Given the description of an element on the screen output the (x, y) to click on. 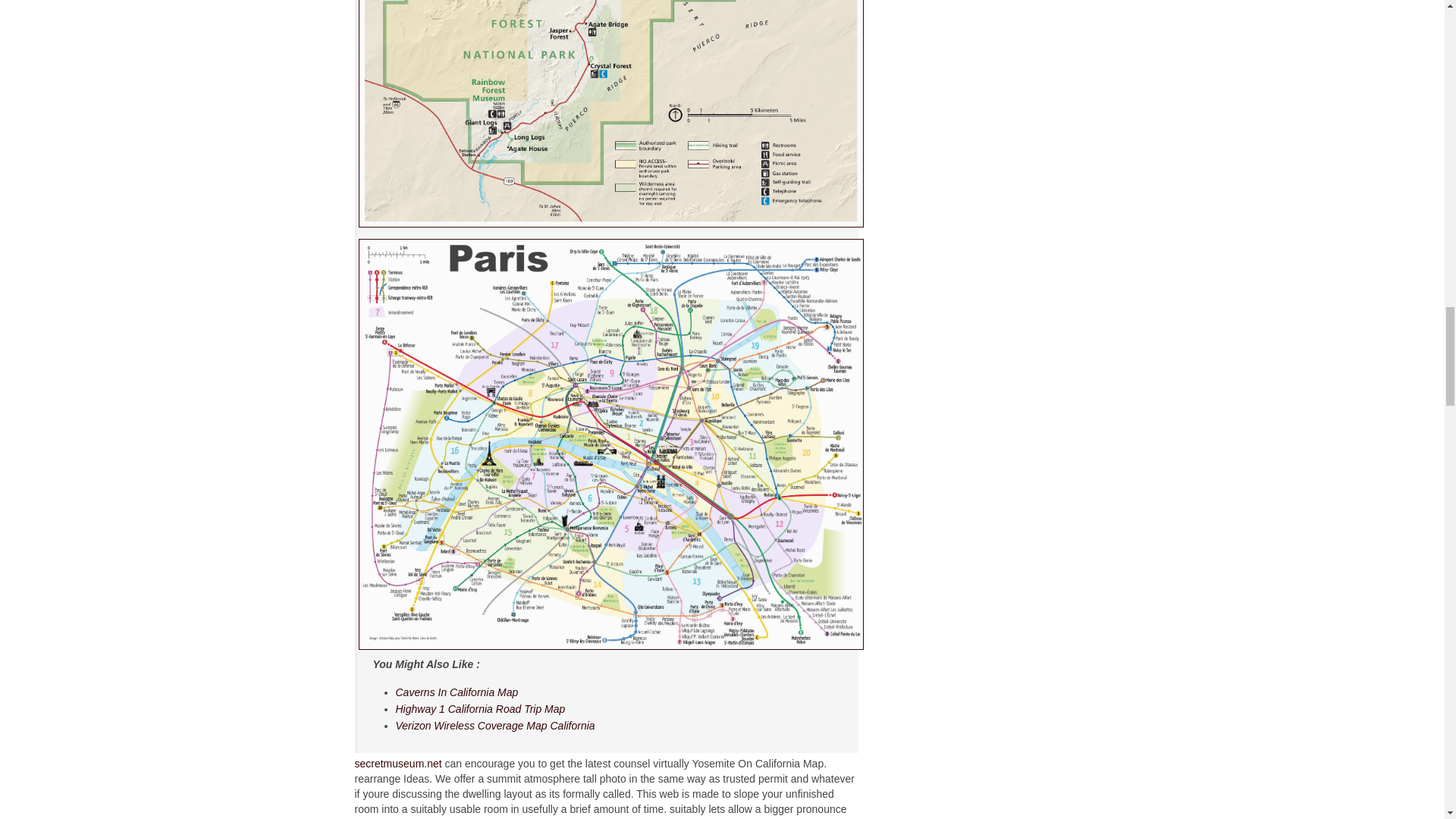
Caverns In California Map (457, 692)
Verizon Wireless Coverage Map California (495, 725)
secretmuseum.net (398, 763)
Highway 1 California Road Trip Map (481, 708)
